Given the description of an element on the screen output the (x, y) to click on. 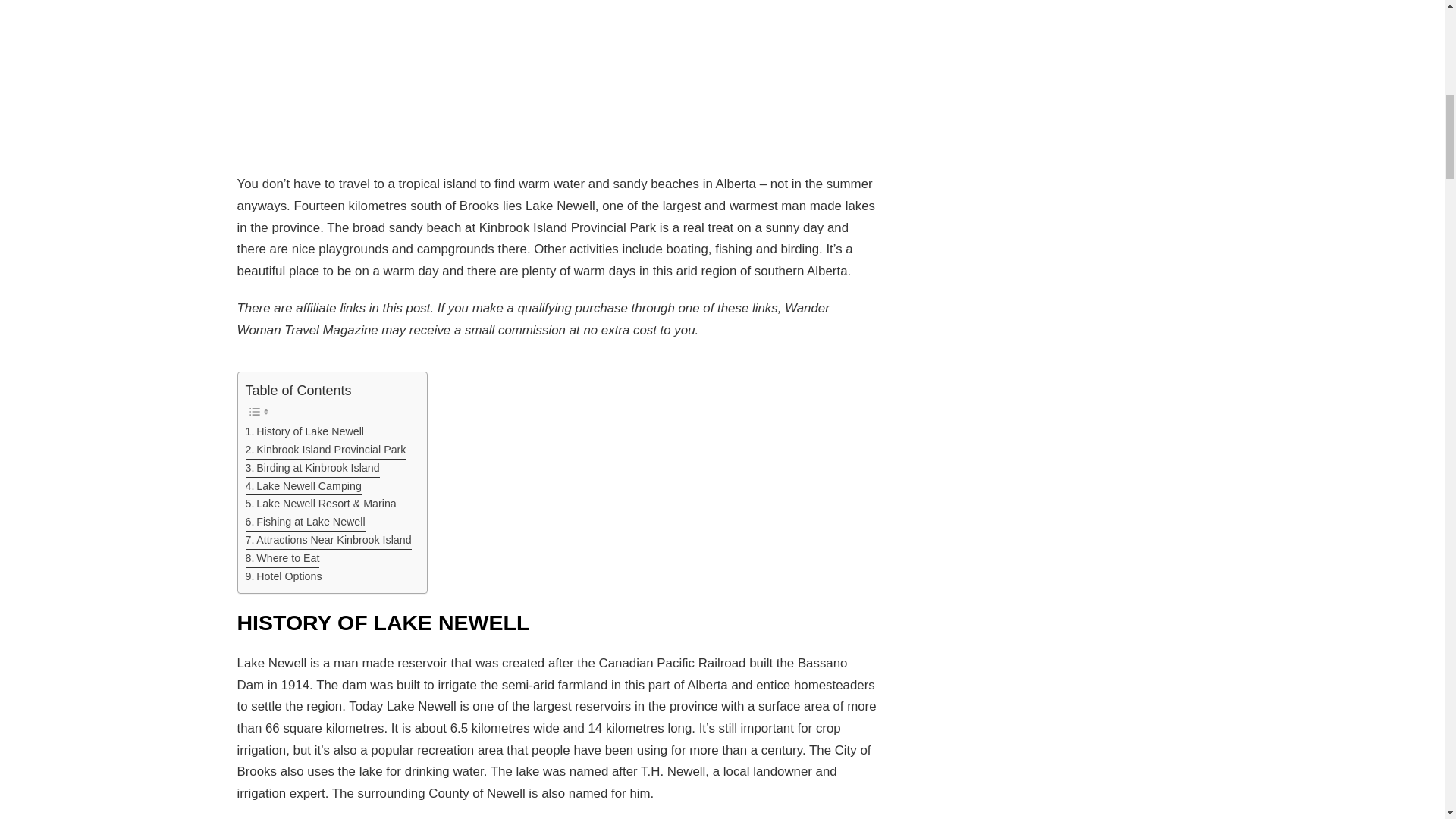
Lake Newell Camping (303, 486)
History of Lake Newell (305, 432)
Attractions Near Kinbrook Island (329, 540)
Birding at Kinbrook Island (313, 468)
Where to Eat (283, 558)
Hotel Options (283, 577)
Birding at Kinbrook Island (313, 468)
Lake Newell Camping (303, 486)
Attractions Near Kinbrook Island (329, 540)
Where to Eat (283, 558)
